Given the description of an element on the screen output the (x, y) to click on. 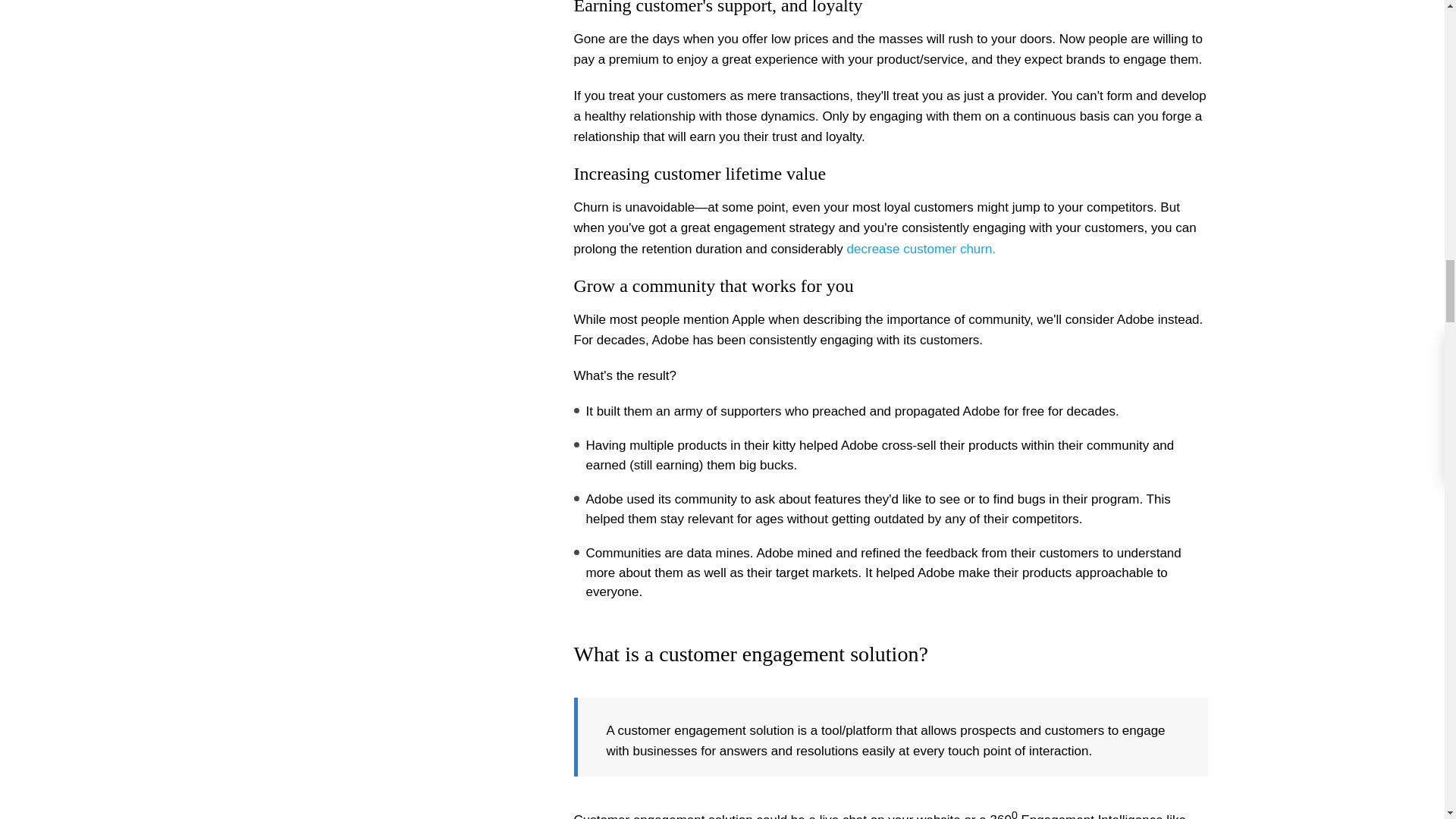
decrease customer churn. (921, 248)
